Given the description of an element on the screen output the (x, y) to click on. 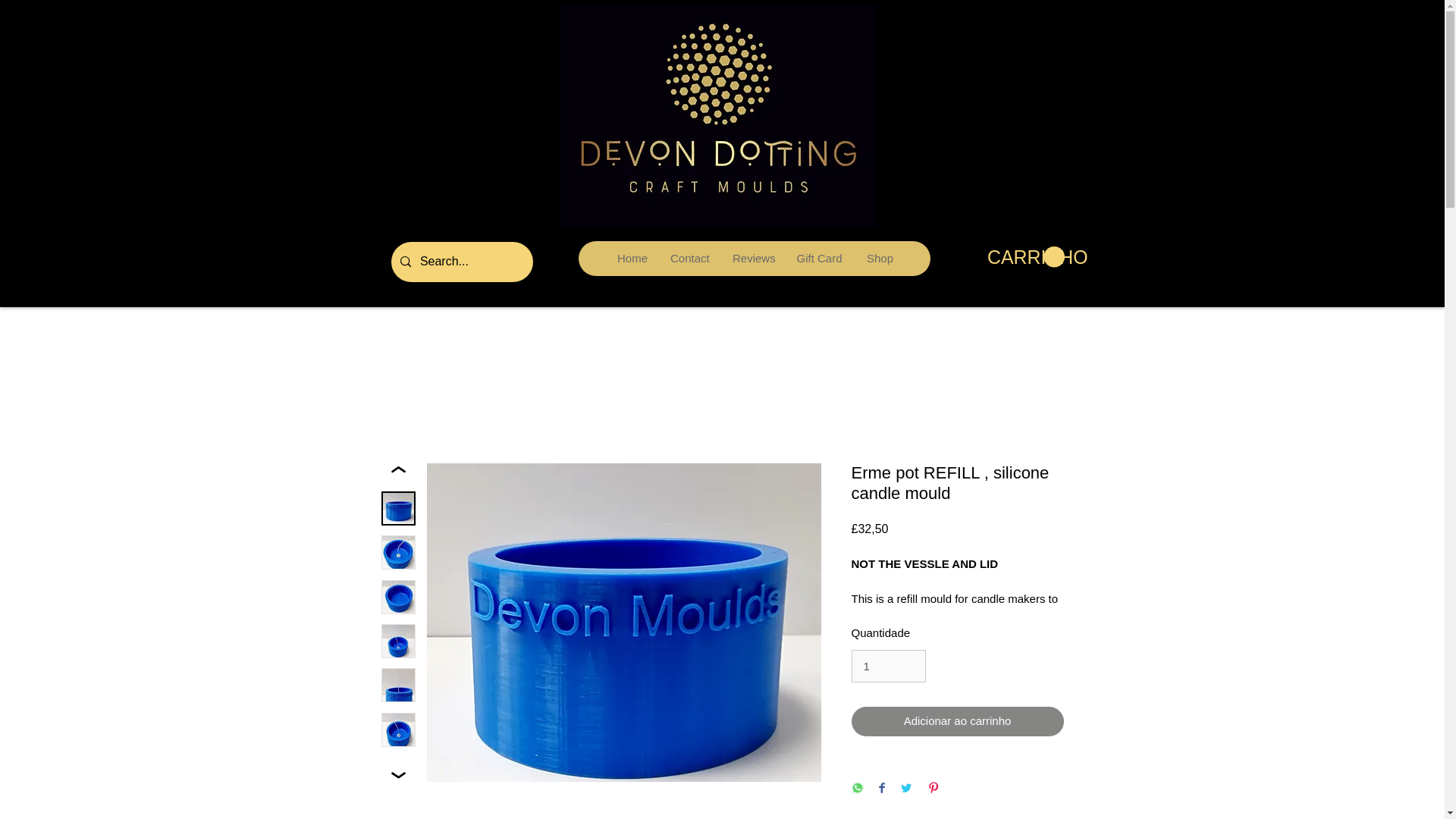
CARRINHO (1025, 257)
CARRINHO (1025, 257)
Contact (689, 258)
Home (631, 258)
1 (887, 666)
Gift Card (818, 258)
